Given the description of an element on the screen output the (x, y) to click on. 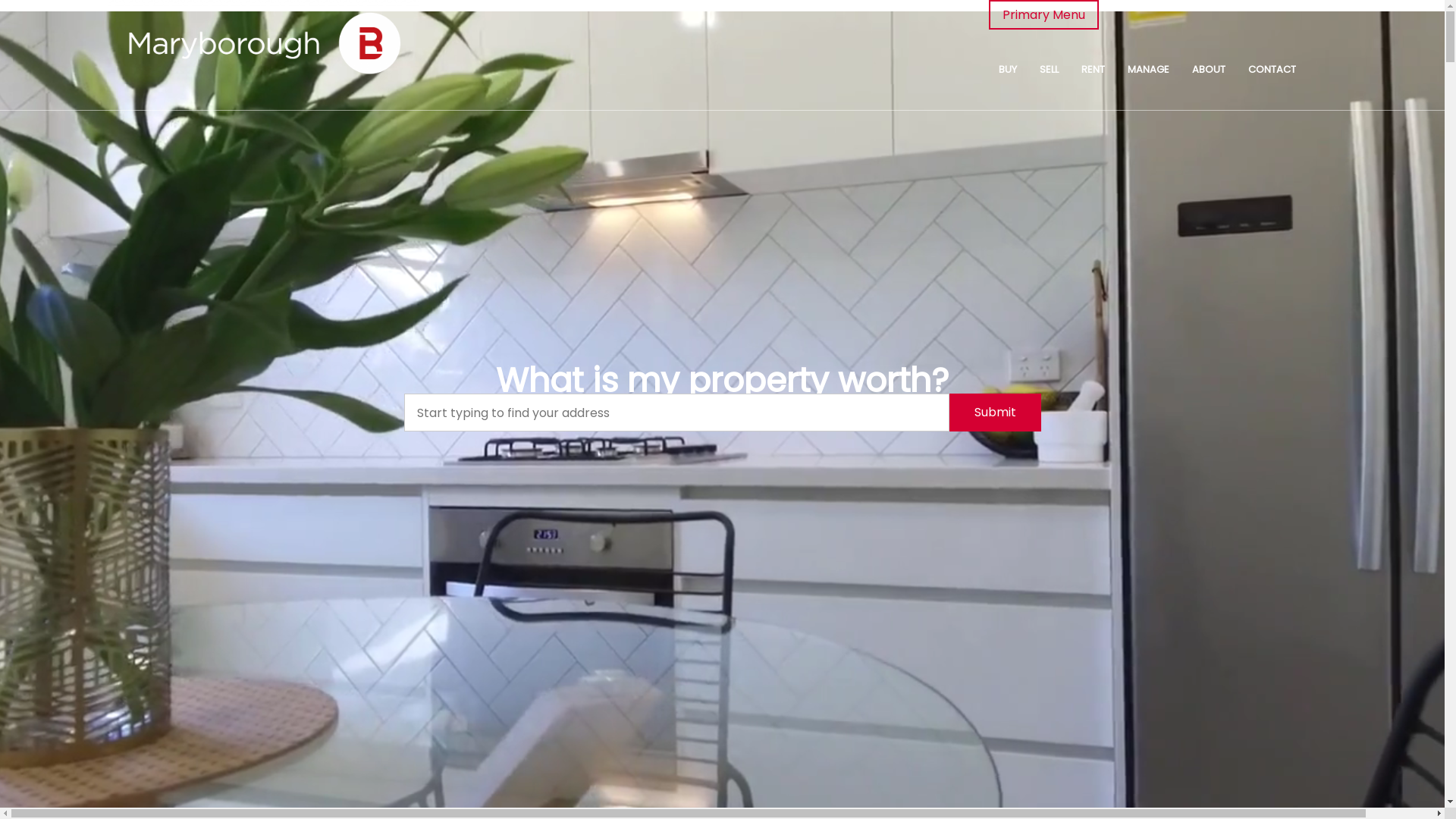
BUY Element type: text (1007, 69)
Primary Menu Element type: text (1043, 14)
Submit Element type: text (995, 412)
Search Element type: text (970, 163)
CONTACT Element type: text (1271, 69)
RENT Element type: text (1092, 69)
SELL Element type: text (1048, 69)
MANAGE Element type: text (1148, 69)
ABOUT Element type: text (1208, 69)
